Given the description of an element on the screen output the (x, y) to click on. 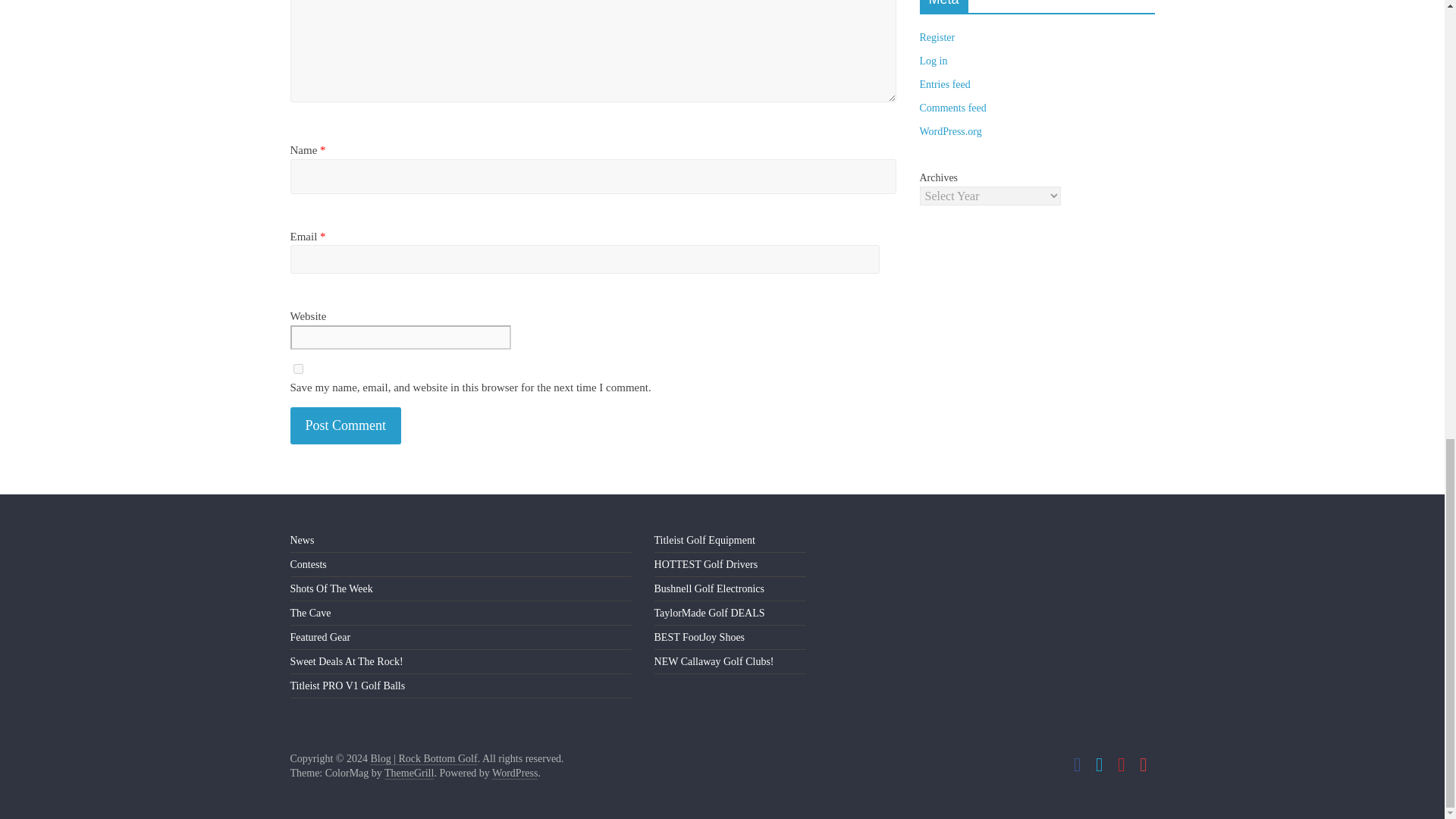
Post Comment (345, 425)
Post Comment (345, 425)
yes (297, 368)
